Given the description of an element on the screen output the (x, y) to click on. 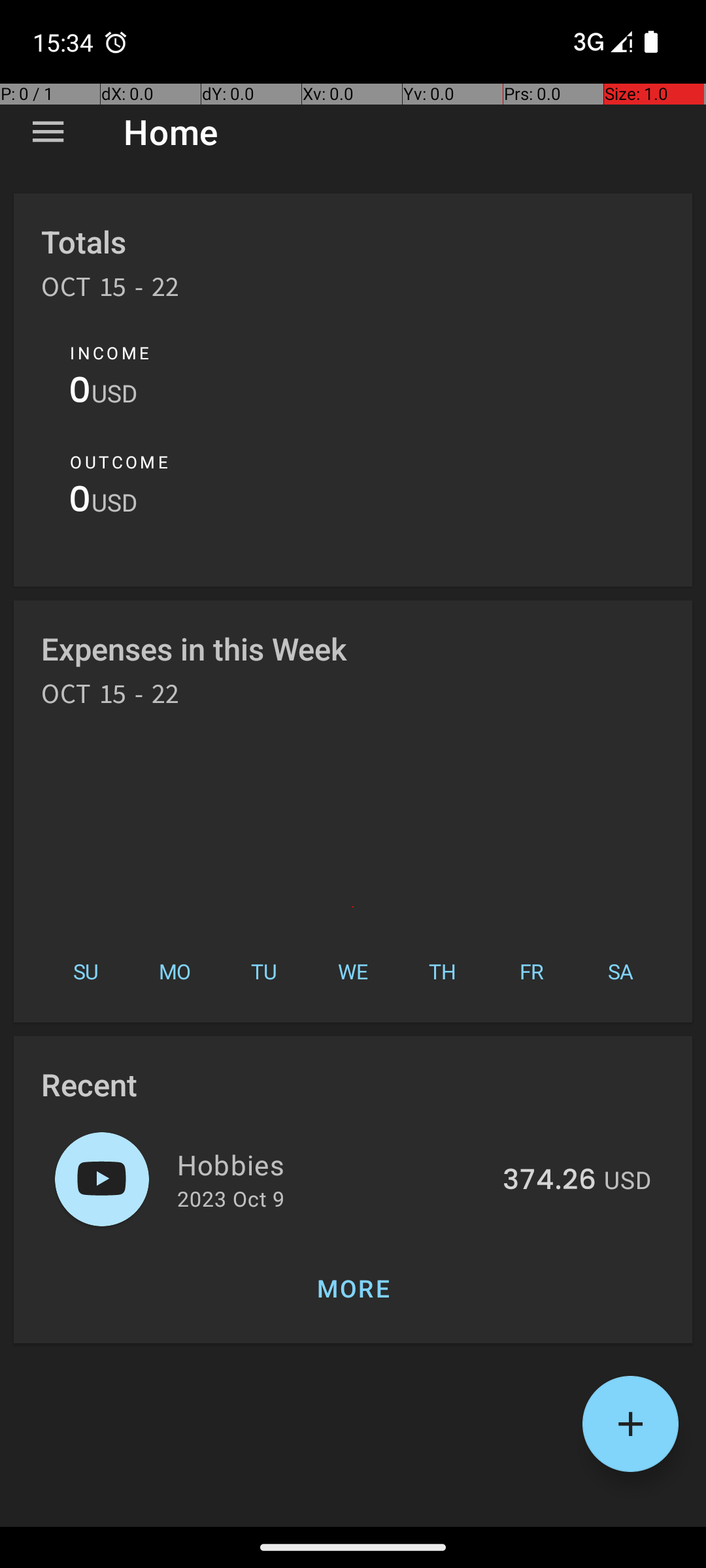
Hobbies Element type: android.widget.TextView (332, 1164)
374.26 Element type: android.widget.TextView (549, 1180)
